Given the description of an element on the screen output the (x, y) to click on. 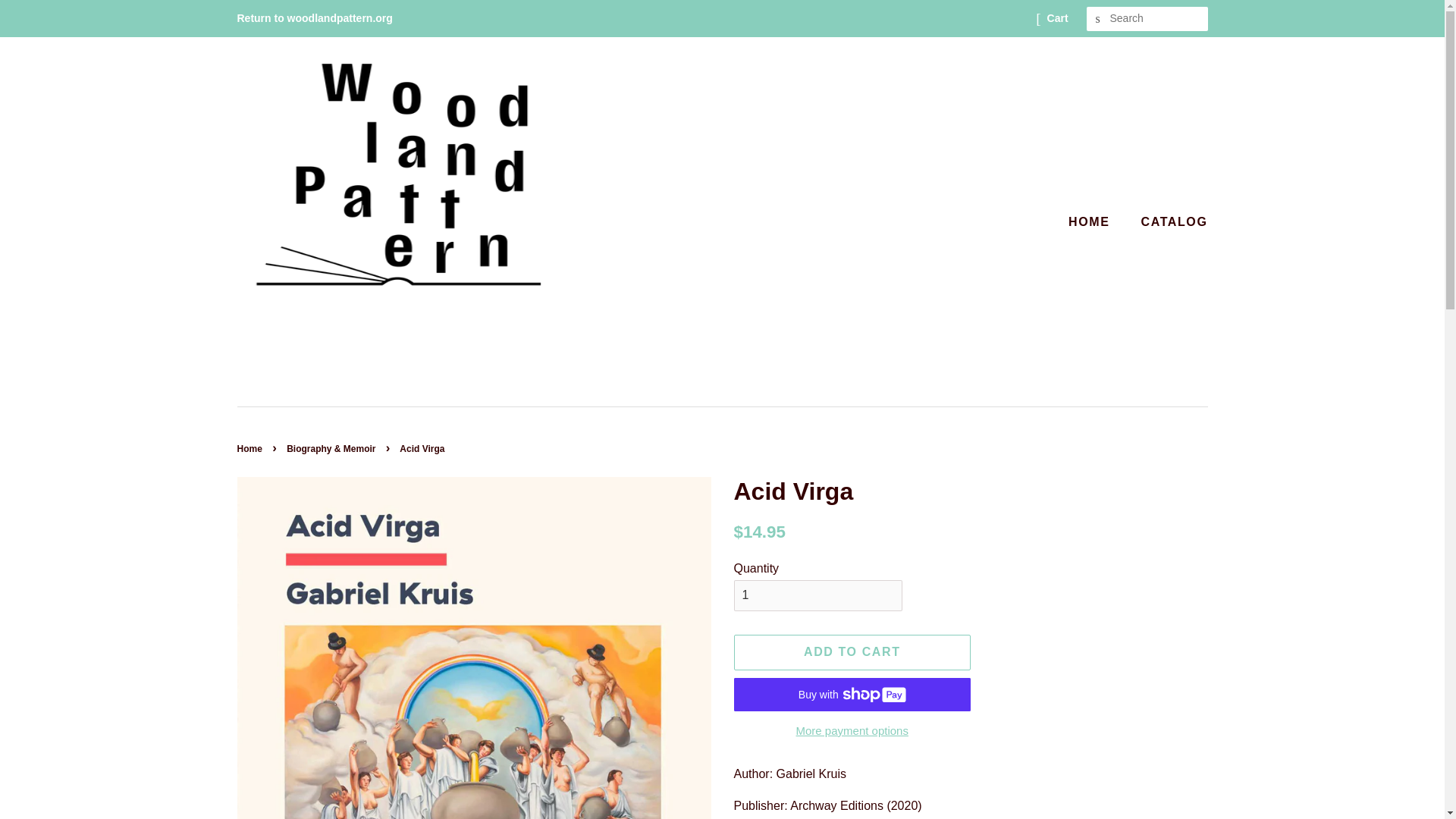
CATALOG (1168, 221)
SEARCH (1097, 18)
ADD TO CART (852, 652)
Back to the frontpage (249, 448)
Cart (1057, 18)
1 (817, 594)
Return to woodlandpattern.org (313, 18)
Home (249, 448)
HOME (1096, 221)
More payment options (852, 730)
